Given the description of an element on the screen output the (x, y) to click on. 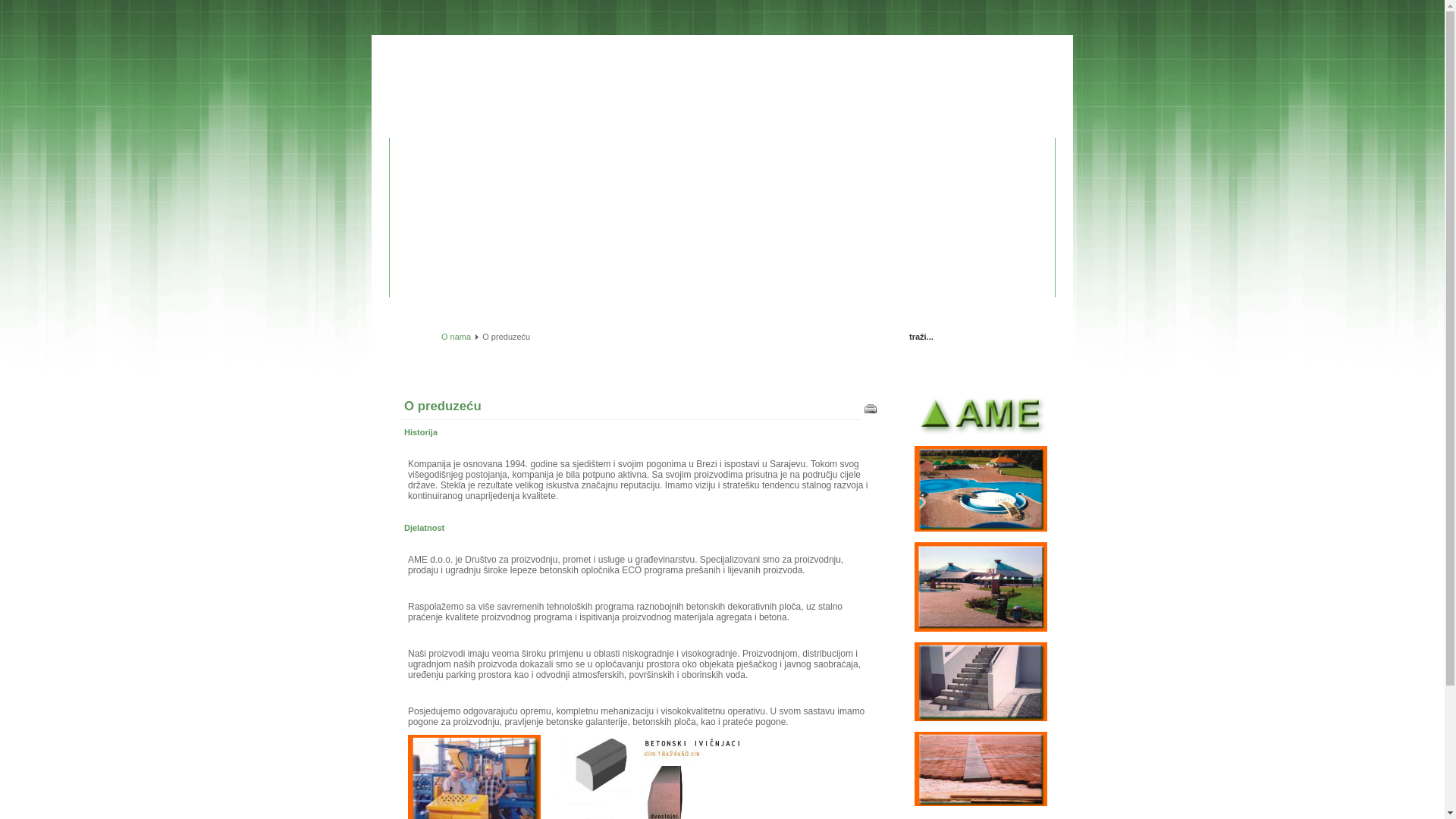
O nama Element type: text (479, 121)
Ugostiteljstvo Element type: text (684, 122)
Benzinska pumpa Element type: text (762, 122)
Ispis Element type: hover (870, 411)
Proizvodnja Element type: text (541, 122)
O nama Element type: text (455, 336)
Kontakt Element type: text (829, 122)
